Given the description of an element on the screen output the (x, y) to click on. 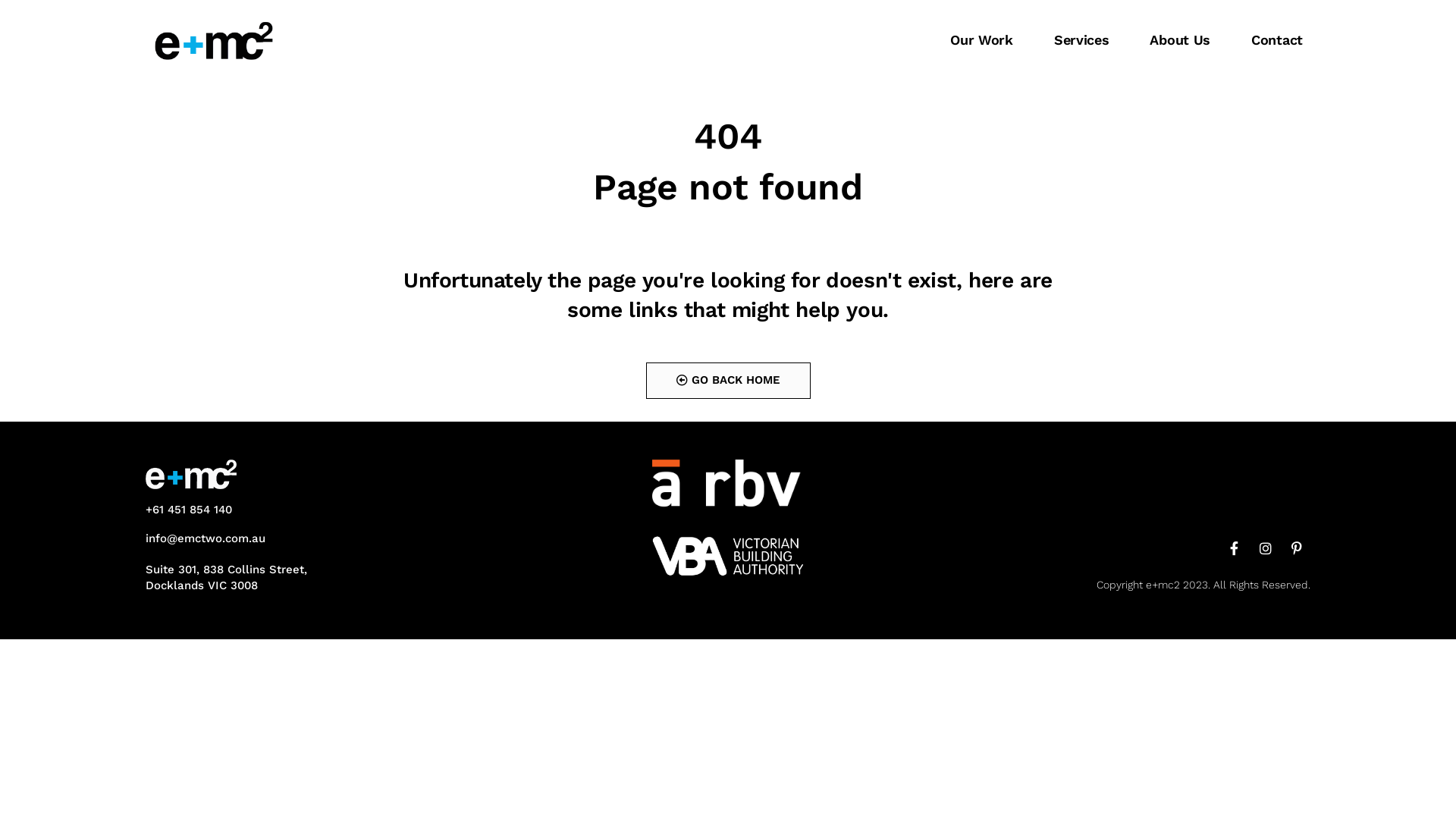
GO BACK HOME Element type: text (728, 380)
info@emctwo.com.au Element type: text (205, 538)
+61 451 854 140 Element type: text (188, 509)
Contact Element type: text (1276, 39)
About Us Element type: text (1179, 39)
Our Work Element type: text (981, 39)
Services Element type: text (1081, 39)
